Given the description of an element on the screen output the (x, y) to click on. 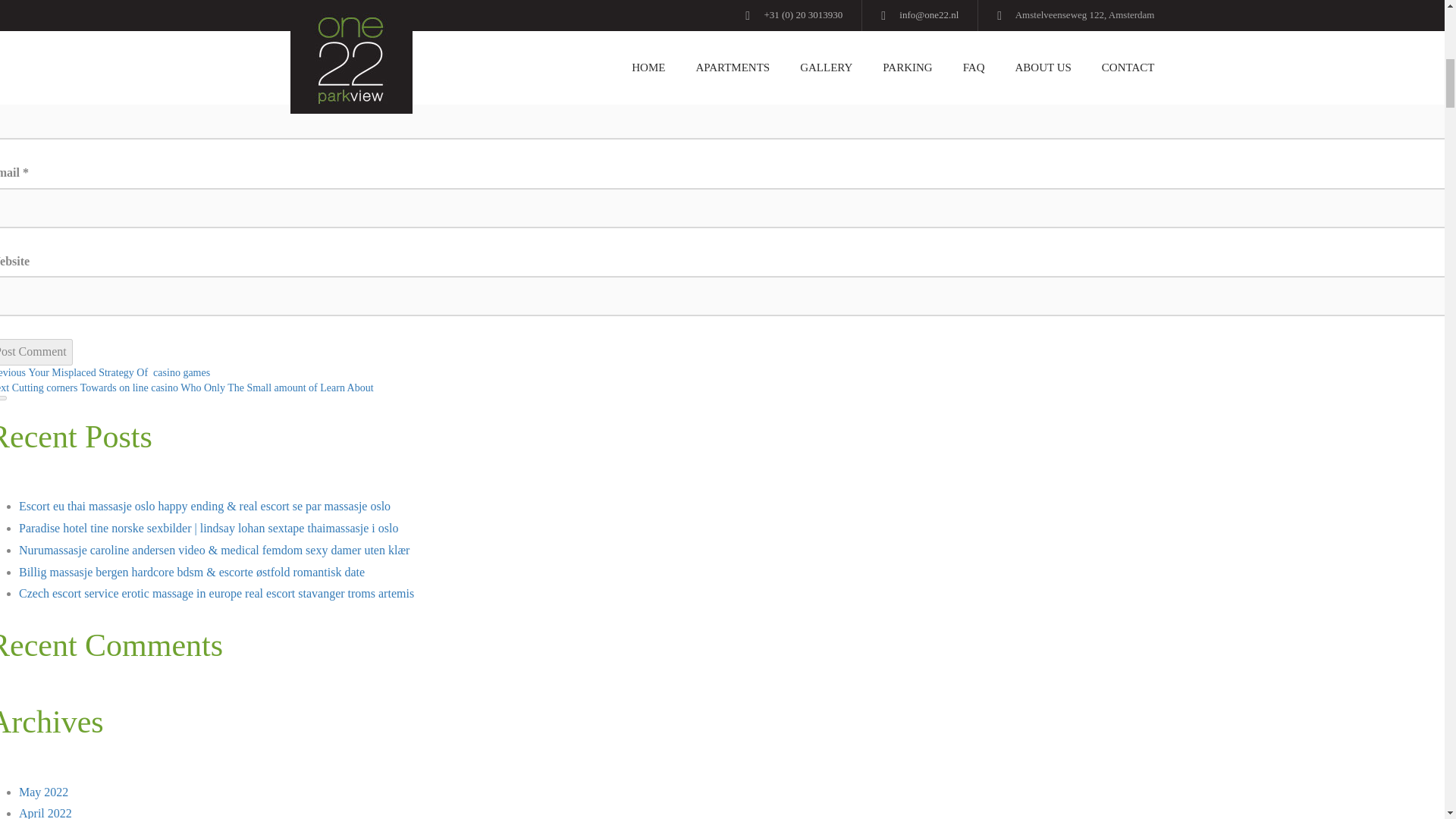
Post Comment (36, 352)
Post Comment (36, 352)
Search (3, 397)
May 2022 (43, 791)
April 2022 (44, 812)
